Given the description of an element on the screen output the (x, y) to click on. 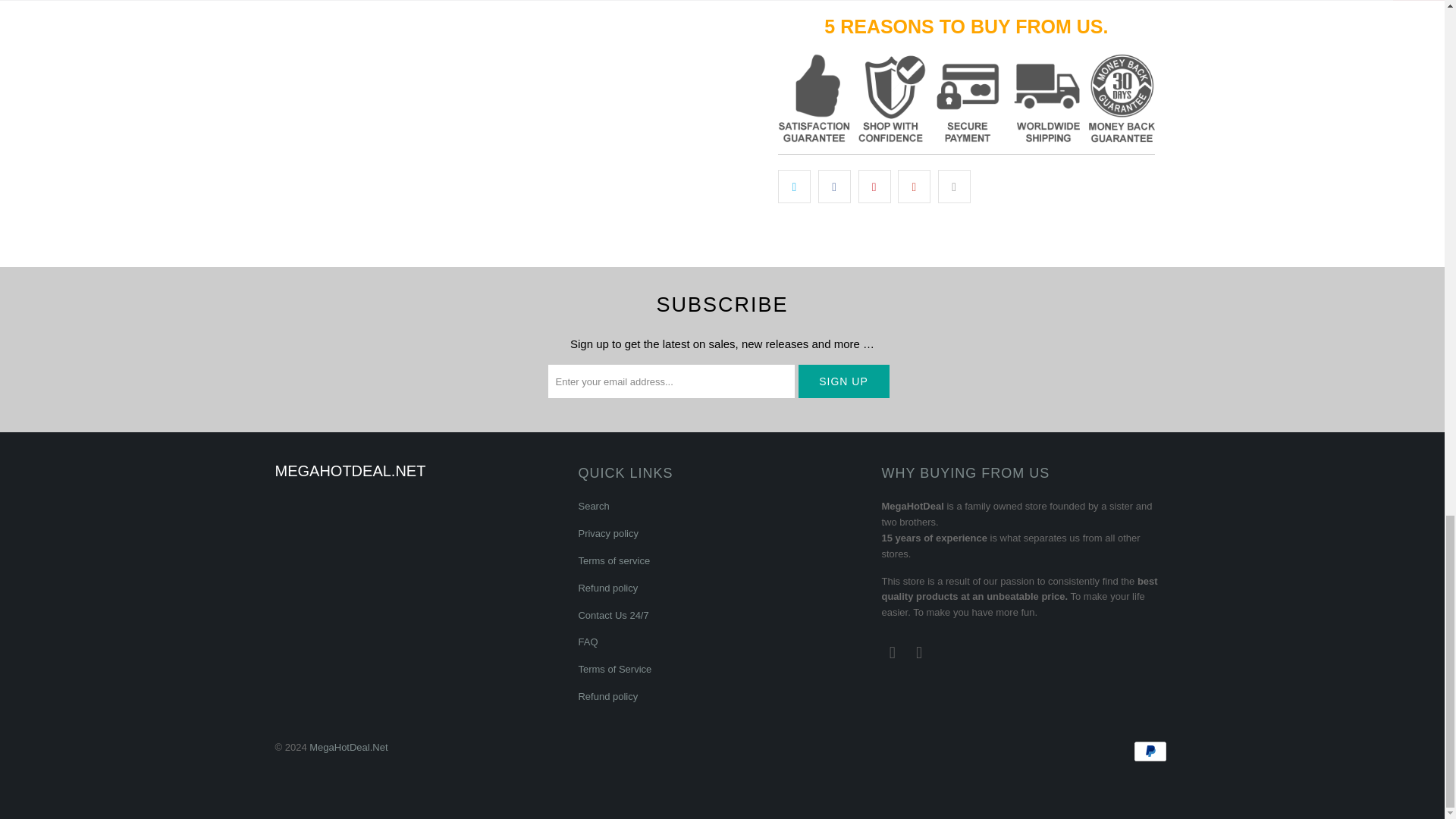
Share this on Twitter (793, 186)
Share this on Facebook (834, 186)
MegaHotDeal.Net  on YouTube (892, 652)
Sign Up (842, 381)
Share this on Pinterest (875, 186)
Email this to a friend (954, 186)
PayPal (1150, 751)
MegaHotDeal.Net  on Instagram (919, 652)
